Given the description of an element on the screen output the (x, y) to click on. 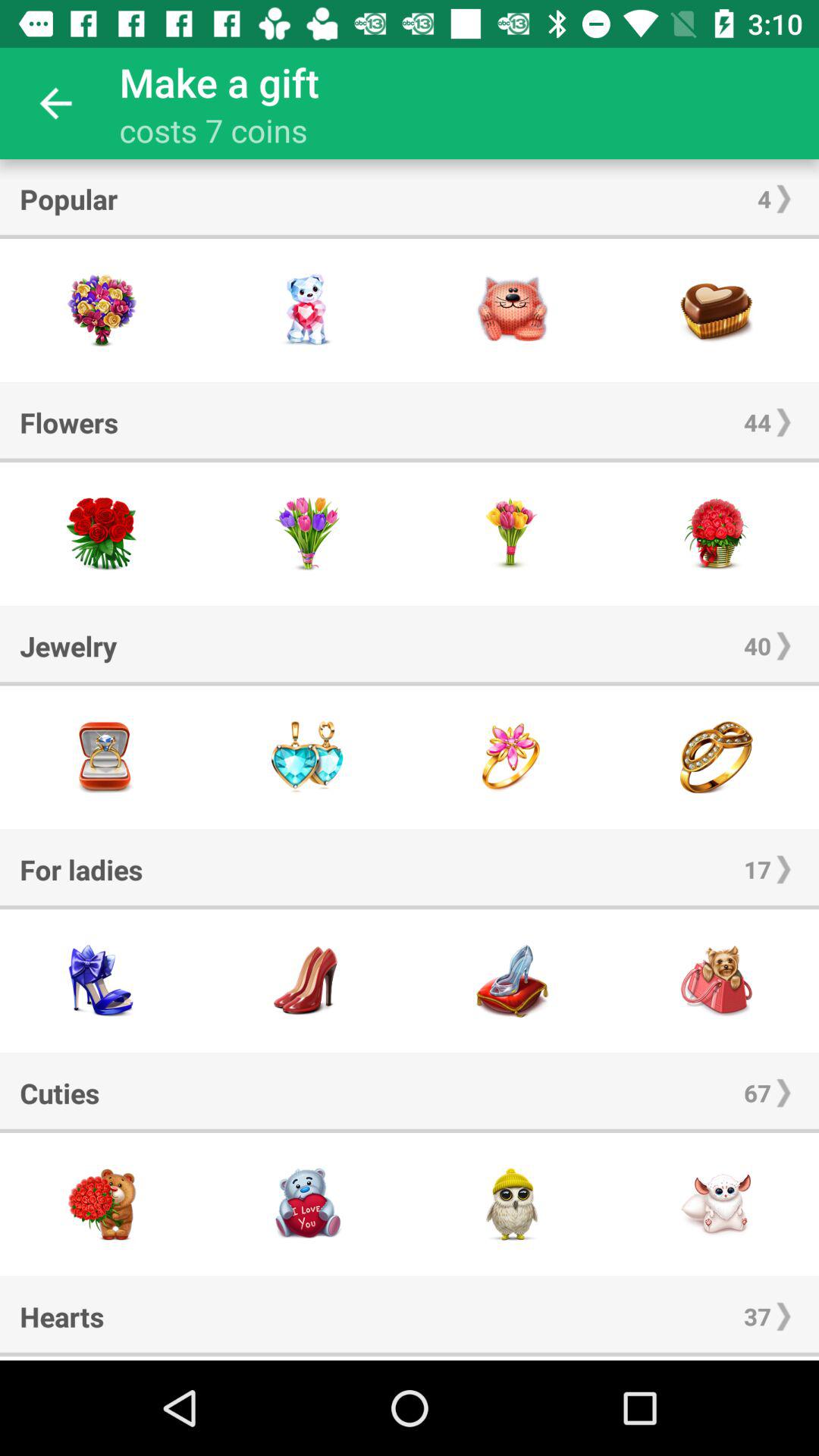
turn on the icon to the left of 67 icon (59, 1092)
